Given the description of an element on the screen output the (x, y) to click on. 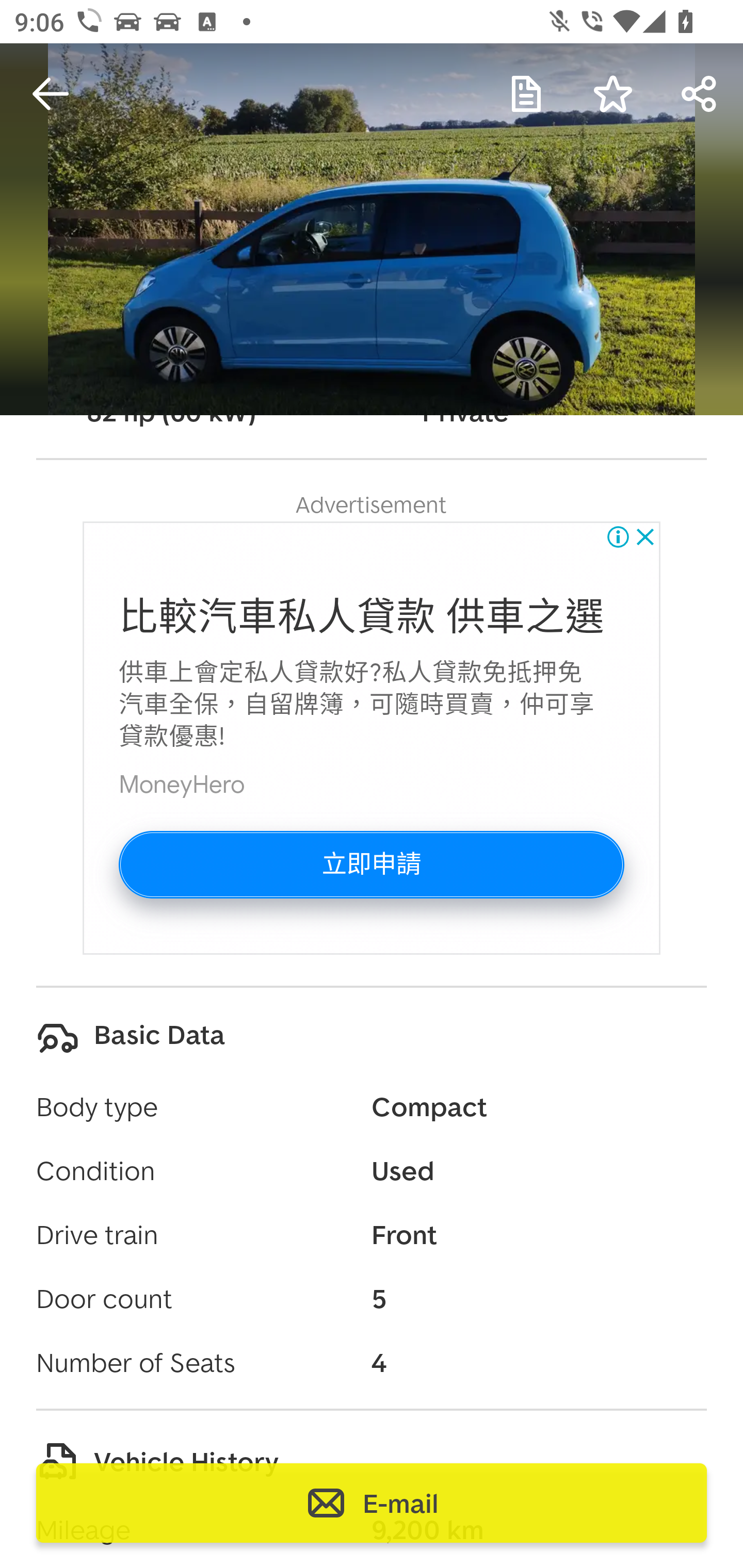
Navigate up (50, 93)
My Notes (525, 93)
Save (612, 93)
Forward (699, 93)
比較汽車私人貸款 供車之選 (362, 616)
MoneyHero (182, 784)
立即申請 (371, 863)
E-mail (371, 1502)
